Given the description of an element on the screen output the (x, y) to click on. 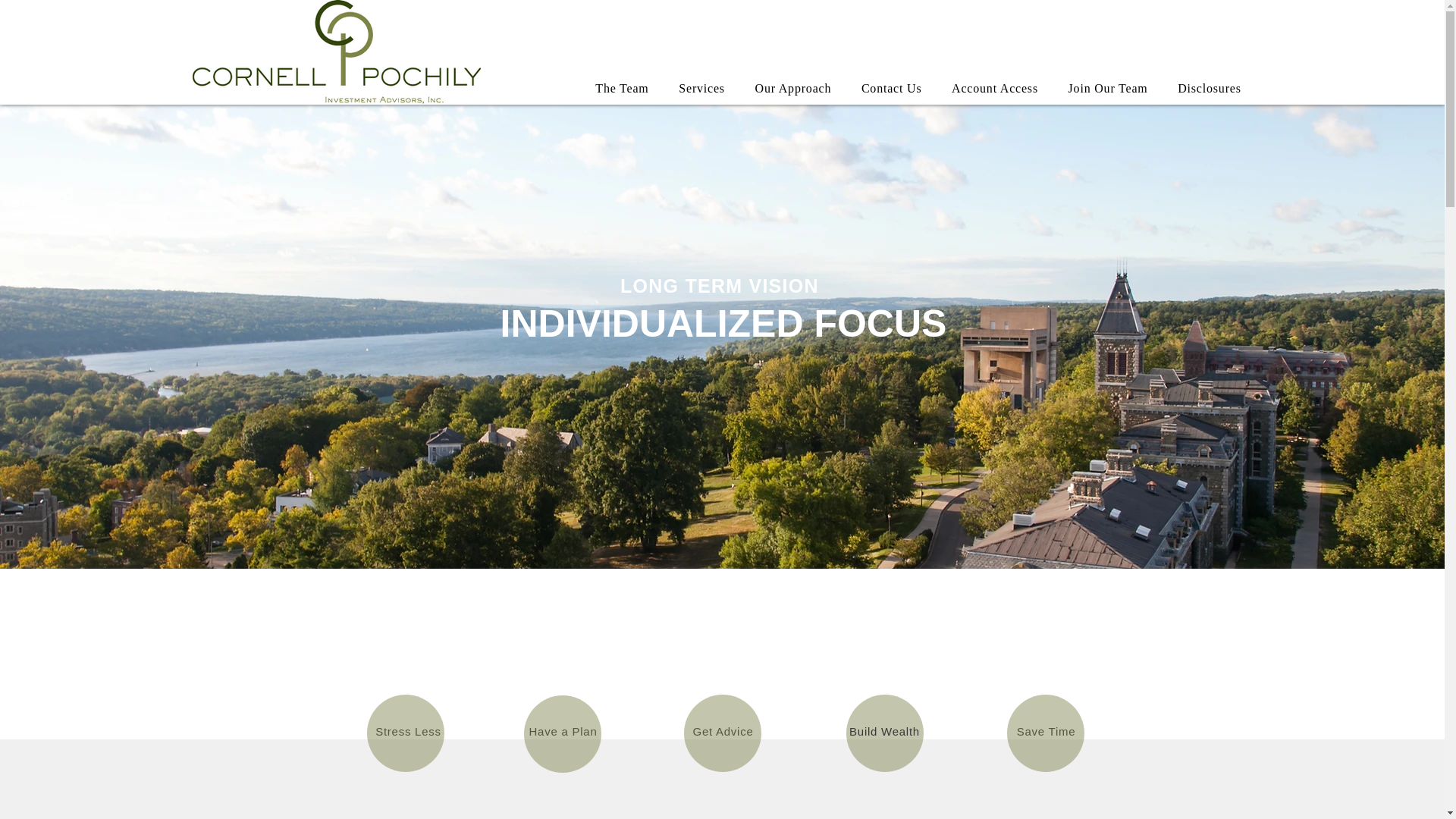
Contact Us (890, 88)
Our Approach (792, 88)
Join Our Team (1108, 88)
Services (701, 88)
The Team (622, 88)
